Given the description of an element on the screen output the (x, y) to click on. 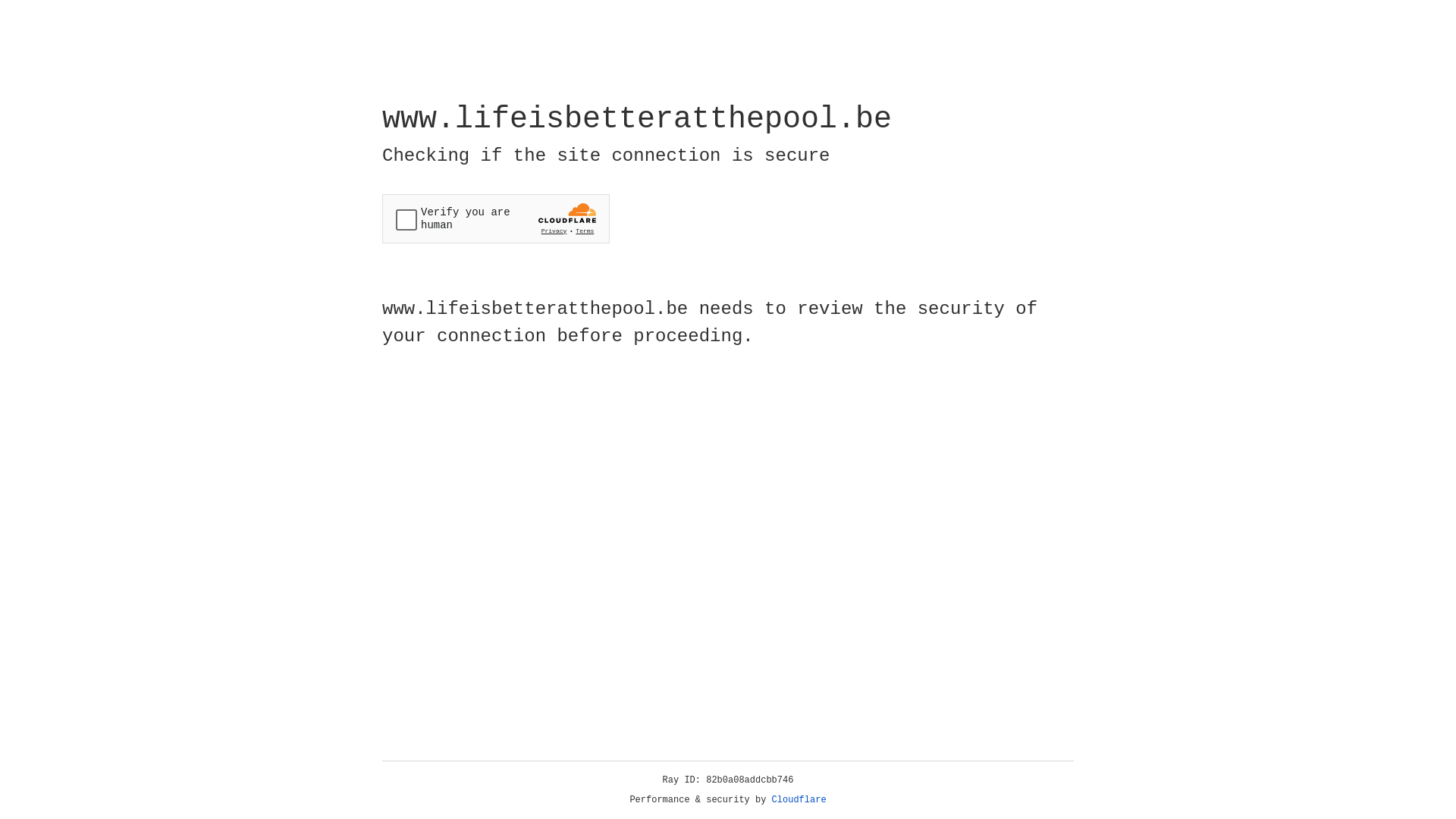
Cloudflare Element type: text (798, 799)
Widget containing a Cloudflare security challenge Element type: hover (495, 218)
